Given the description of an element on the screen output the (x, y) to click on. 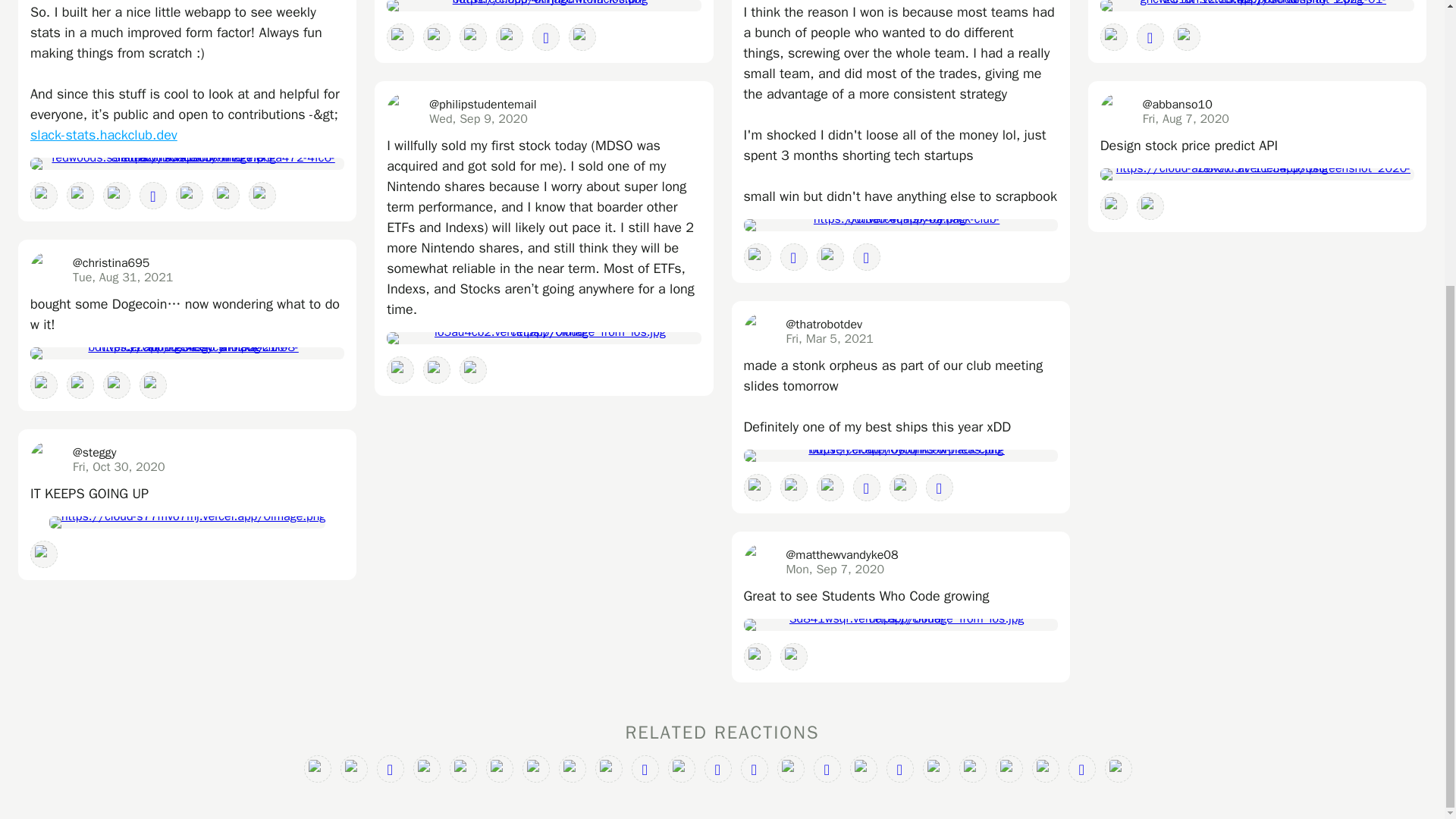
Summer 21 (44, 384)
Cooll Dino (226, 195)
Stonks (117, 195)
Slack (262, 195)
Stonks (80, 384)
Star (153, 195)
Beachball (189, 195)
Laptopparrot (44, 195)
Upvote (80, 195)
slack-stats.hackclub.dev (103, 134)
